Given the description of an element on the screen output the (x, y) to click on. 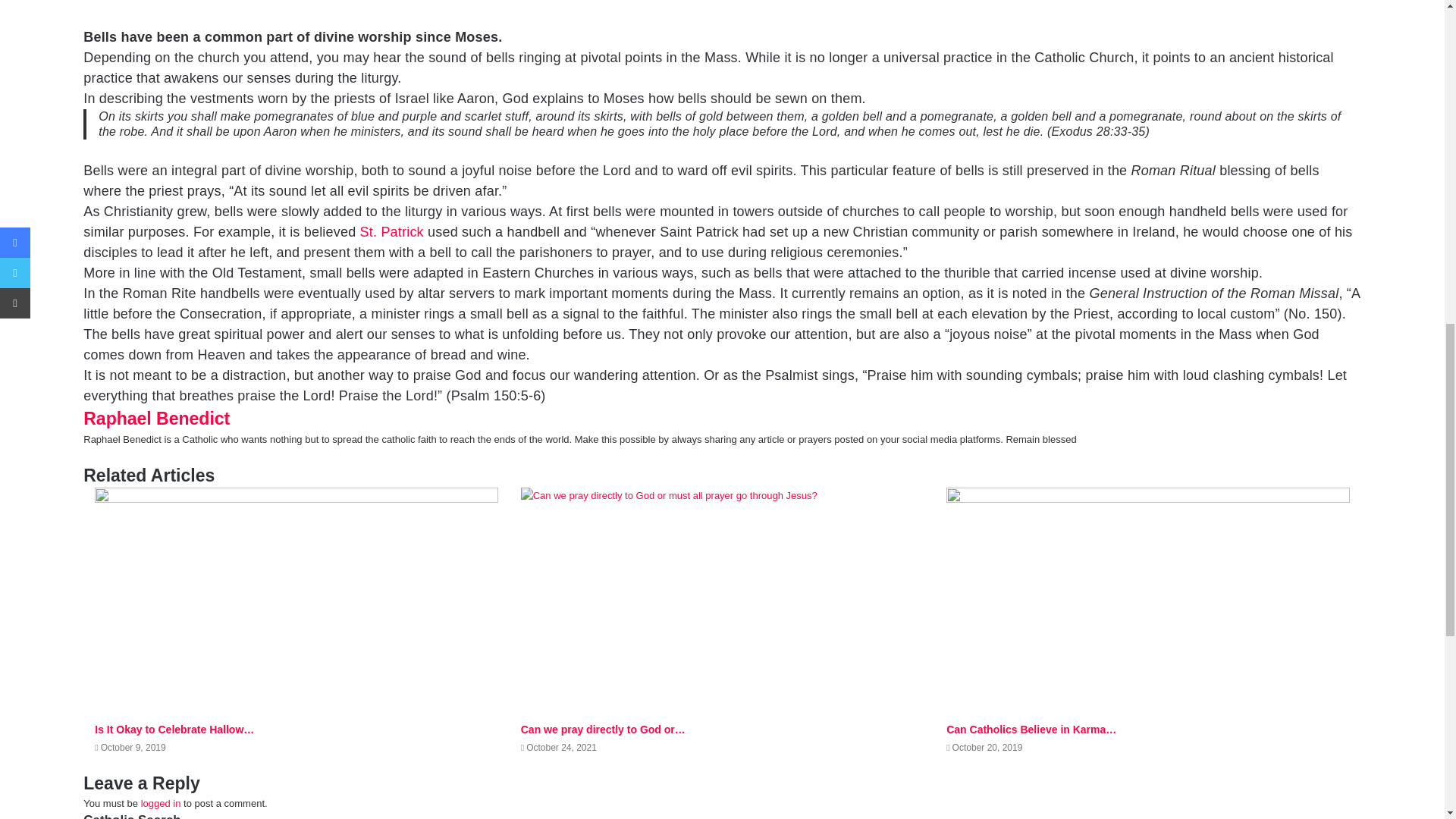
St. Patrick (391, 231)
Raphael Benedict (156, 418)
